Given the description of an element on the screen output the (x, y) to click on. 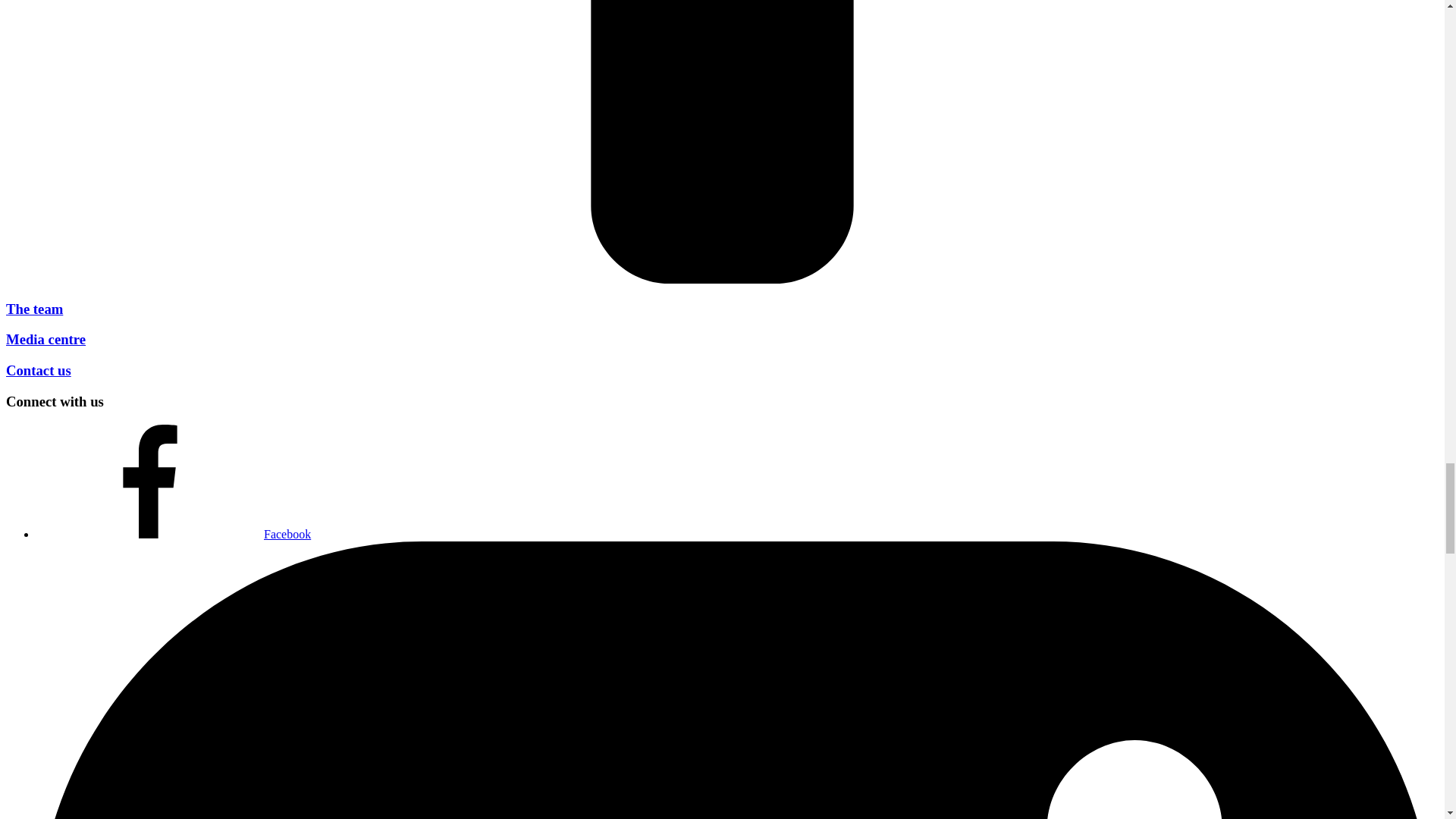
Facebook (173, 533)
Media centre (45, 339)
Contact us (38, 370)
The team (33, 308)
